Given the description of an element on the screen output the (x, y) to click on. 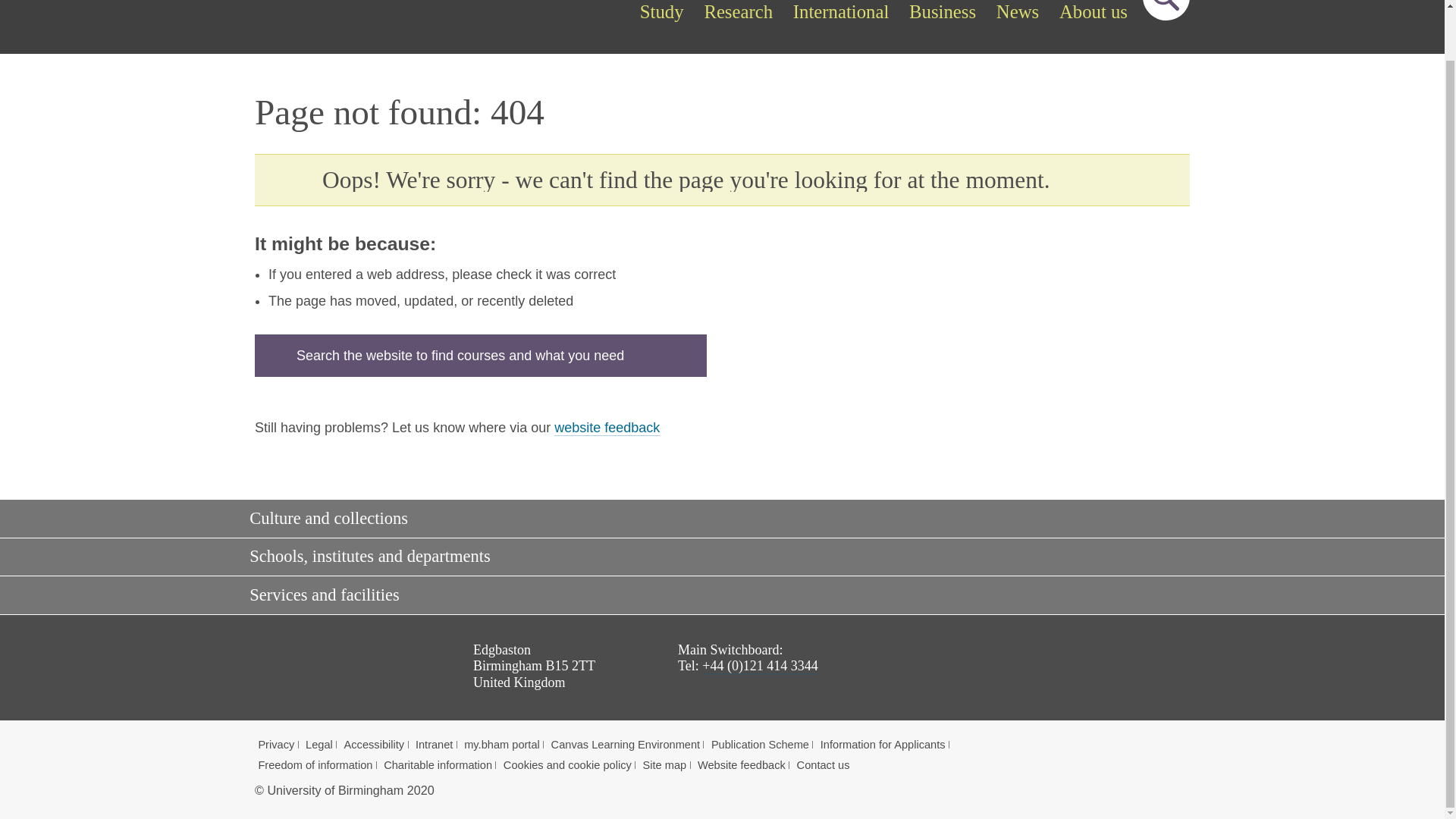
Freedom of information (314, 765)
Weibo (1173, 671)
Services and facilities (716, 595)
Intranet (433, 744)
Legal (319, 744)
Cookies and cookie policy (567, 765)
Business (942, 13)
Search the website to find courses and what you need (480, 355)
YouTube (1090, 671)
Twitter (1048, 671)
Research (738, 13)
Study (661, 13)
International (840, 13)
Privacy (275, 744)
About us (1093, 13)
